Given the description of an element on the screen output the (x, y) to click on. 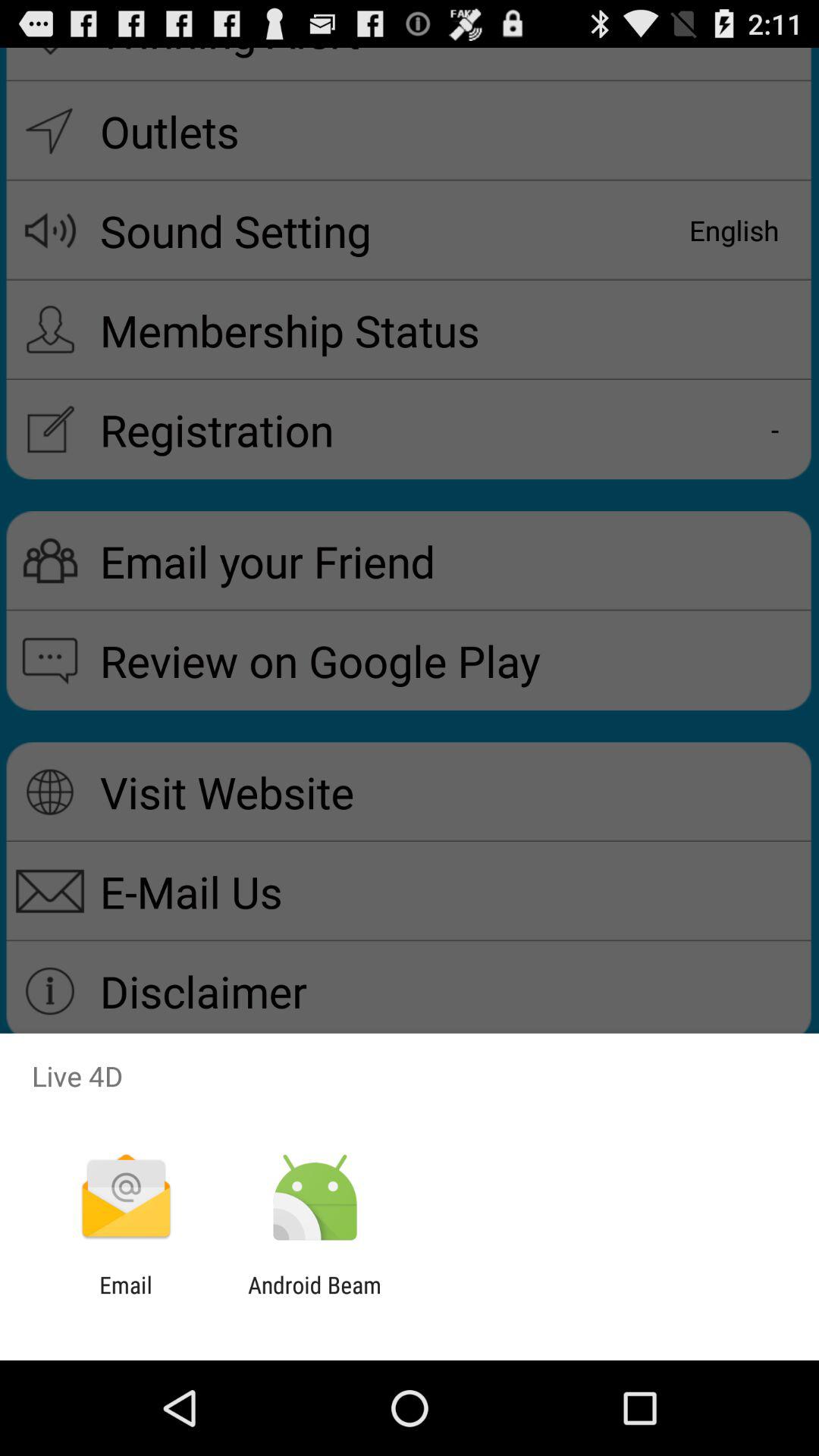
select the item next to email (314, 1298)
